Given the description of an element on the screen output the (x, y) to click on. 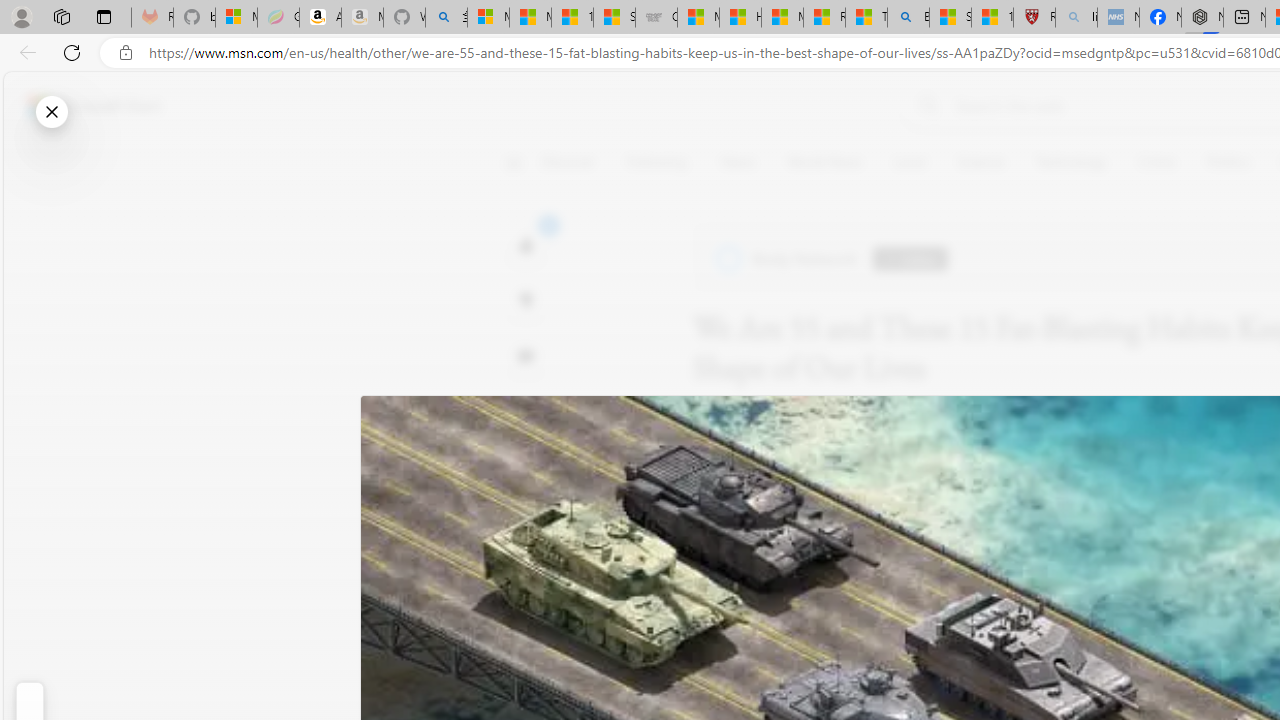
6 Like (525, 244)
Body Network (788, 259)
Class: at-item (525, 468)
Share this story (525, 412)
